Given the description of an element on the screen output the (x, y) to click on. 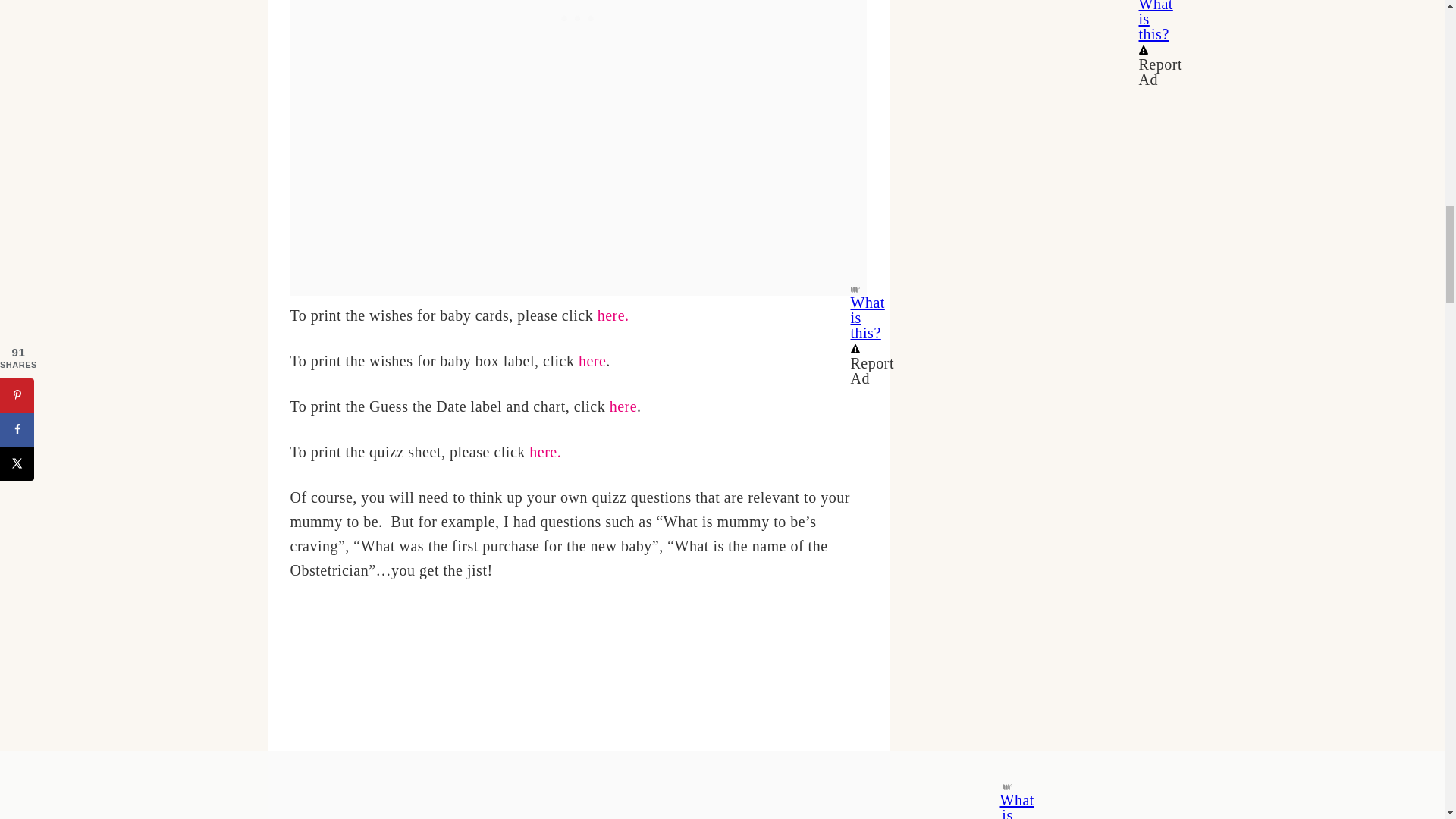
here (591, 360)
here. (612, 315)
